Given the description of an element on the screen output the (x, y) to click on. 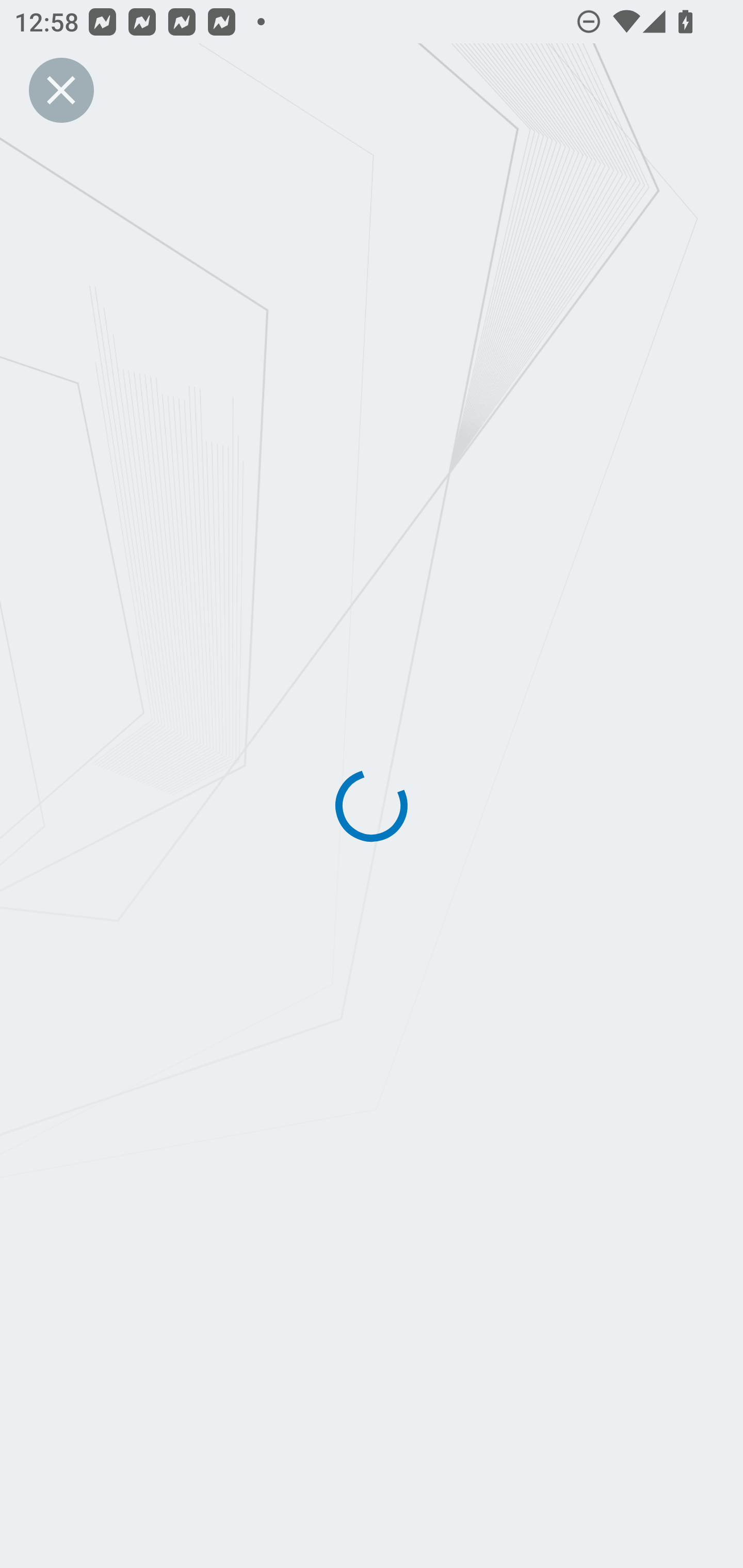
Close (60, 90)
